Given the description of an element on the screen output the (x, y) to click on. 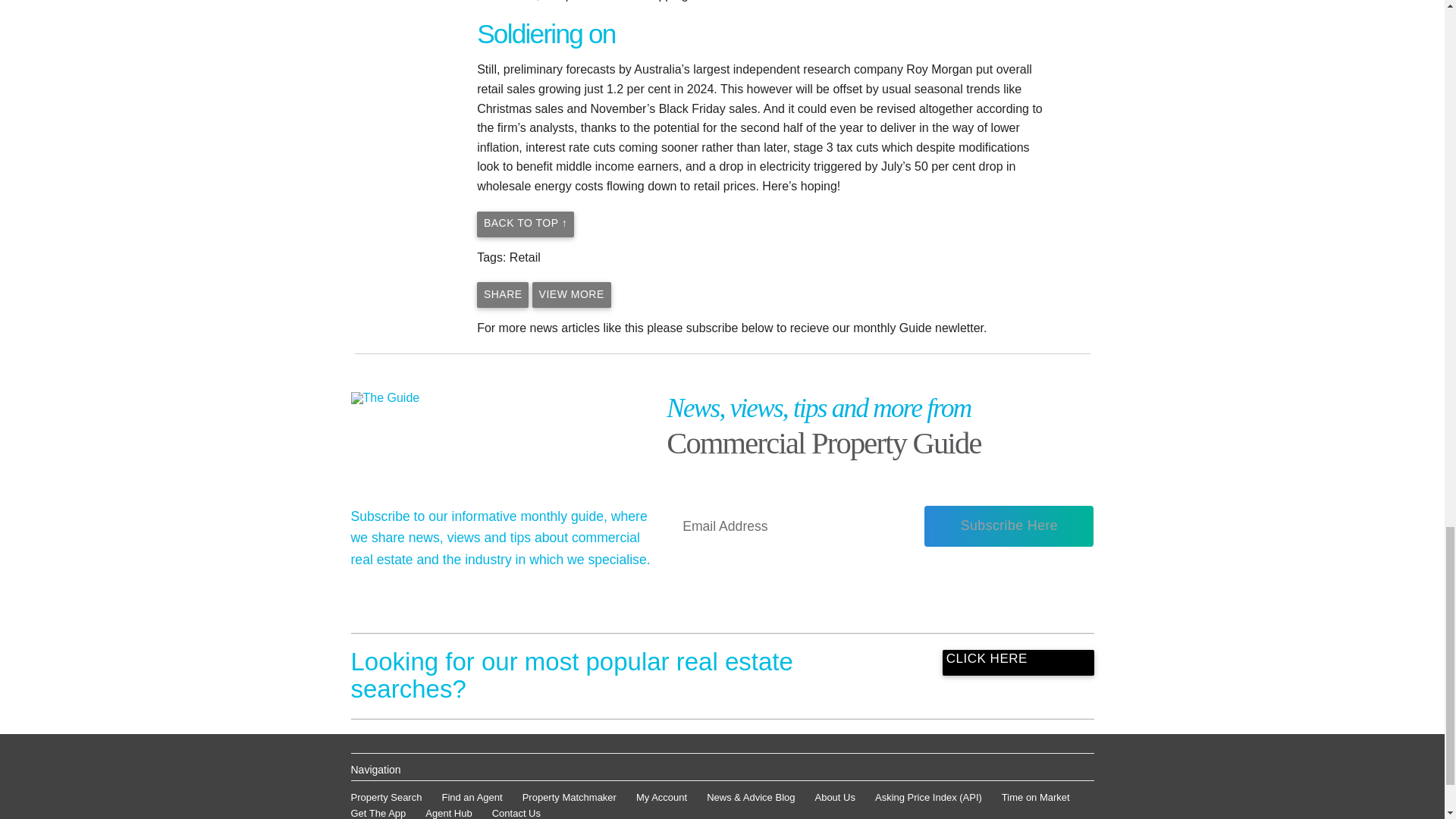
VIEW MORE (571, 294)
Go back to top (525, 224)
CLICK HERE (1017, 662)
Subscribe Here (1008, 526)
SHARE (502, 294)
